Given the description of an element on the screen output the (x, y) to click on. 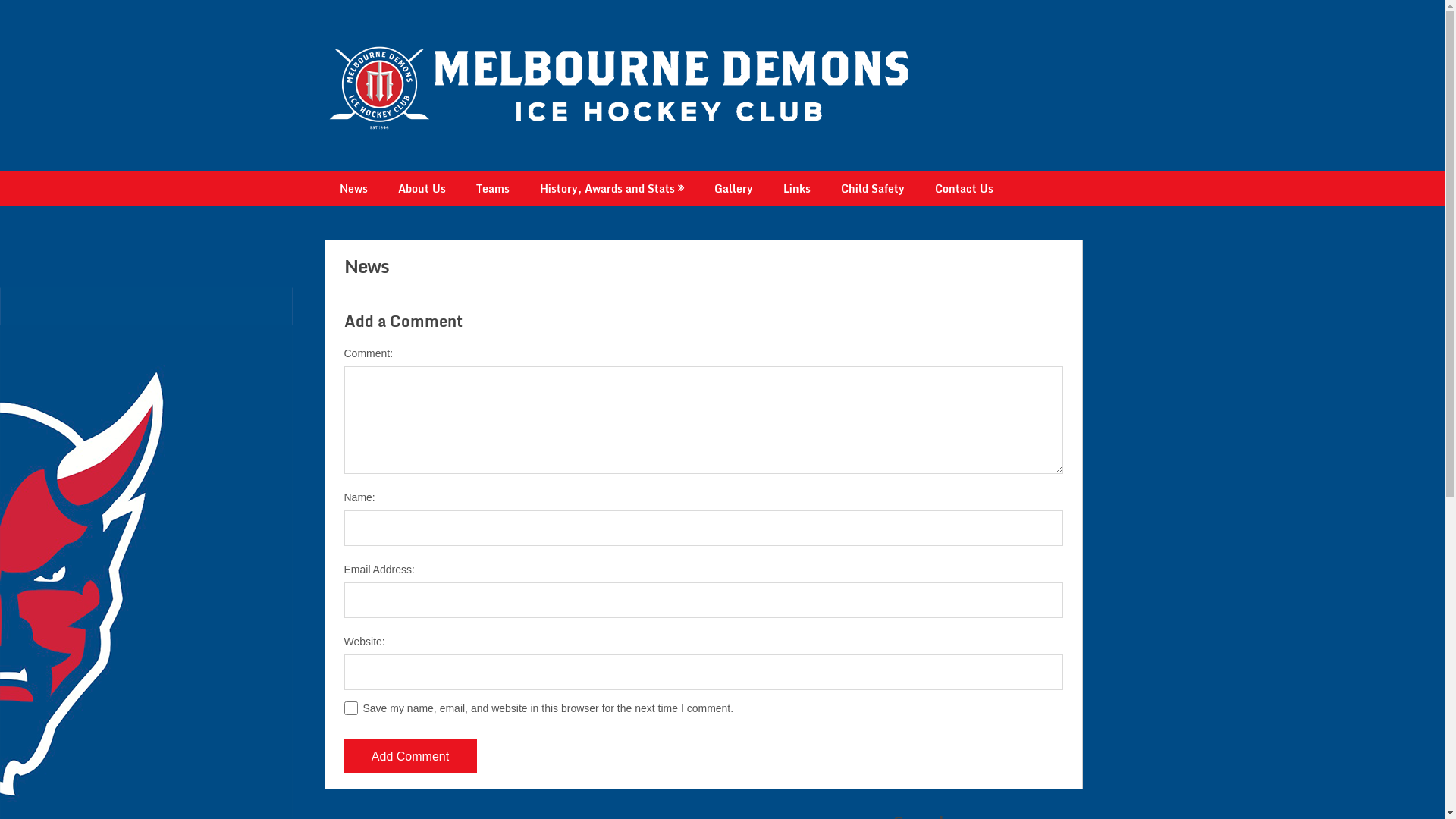
Links Element type: text (796, 188)
About Us Element type: text (421, 188)
History, Awards and Stats Element type: text (611, 188)
Child Safety Element type: text (872, 188)
News Element type: text (353, 188)
Gallery Element type: text (733, 188)
Teams Element type: text (492, 188)
Contact Us Element type: text (963, 188)
Add Comment Element type: text (410, 756)
